Given the description of an element on the screen output the (x, y) to click on. 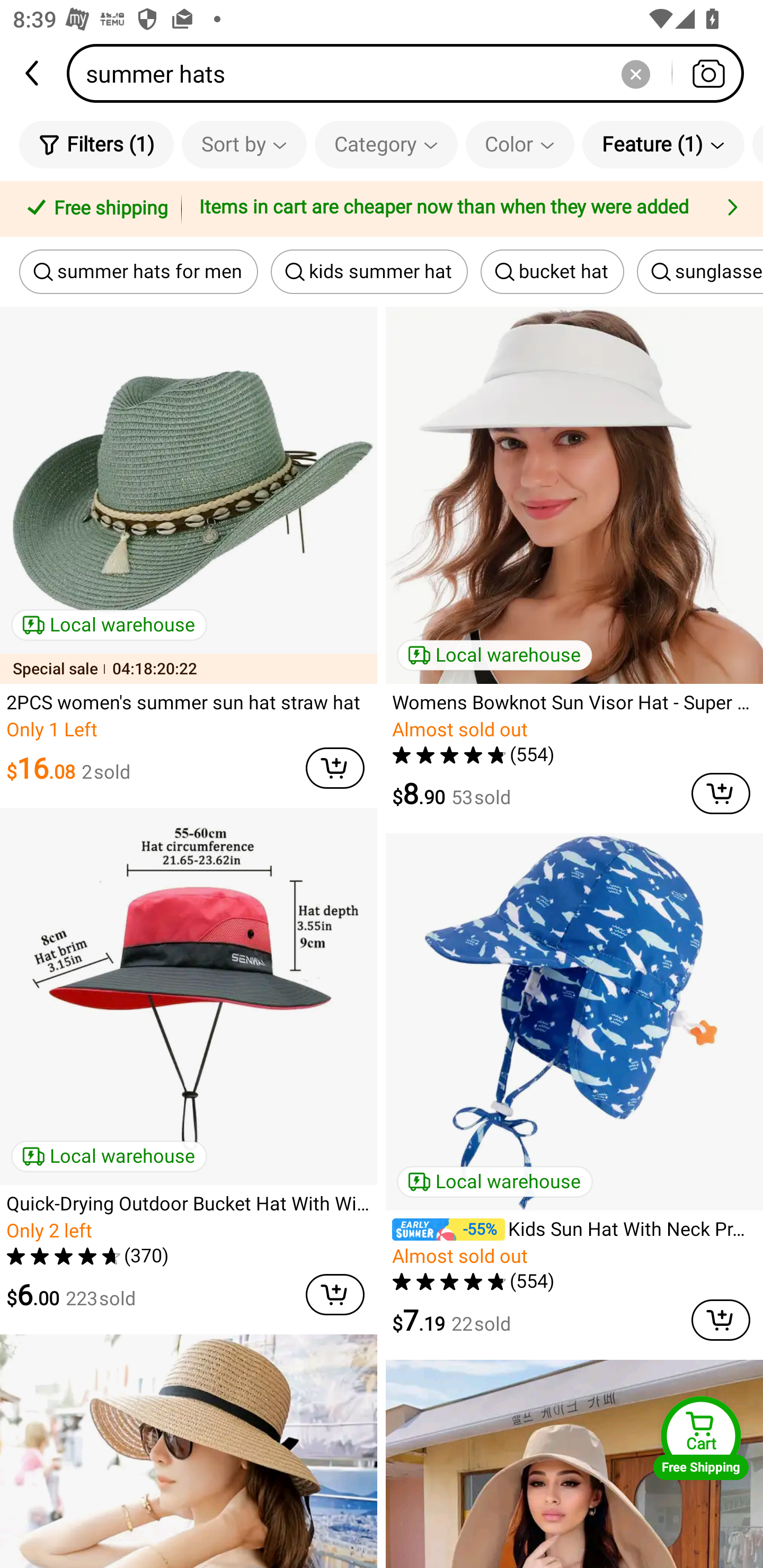
back (33, 72)
summer hats (411, 73)
Delete search history (635, 73)
Search by photo (708, 73)
Filters (1) (96, 143)
Sort by (243, 143)
Category (385, 143)
Color (519, 143)
Feature (1) (663, 143)
 Free shipping (93, 208)
summer hats for men (138, 271)
kids summer hat (368, 271)
bucket hat (552, 271)
sunglasses (700, 271)
Cart Free Shipping Cart (701, 1437)
